Given the description of an element on the screen output the (x, y) to click on. 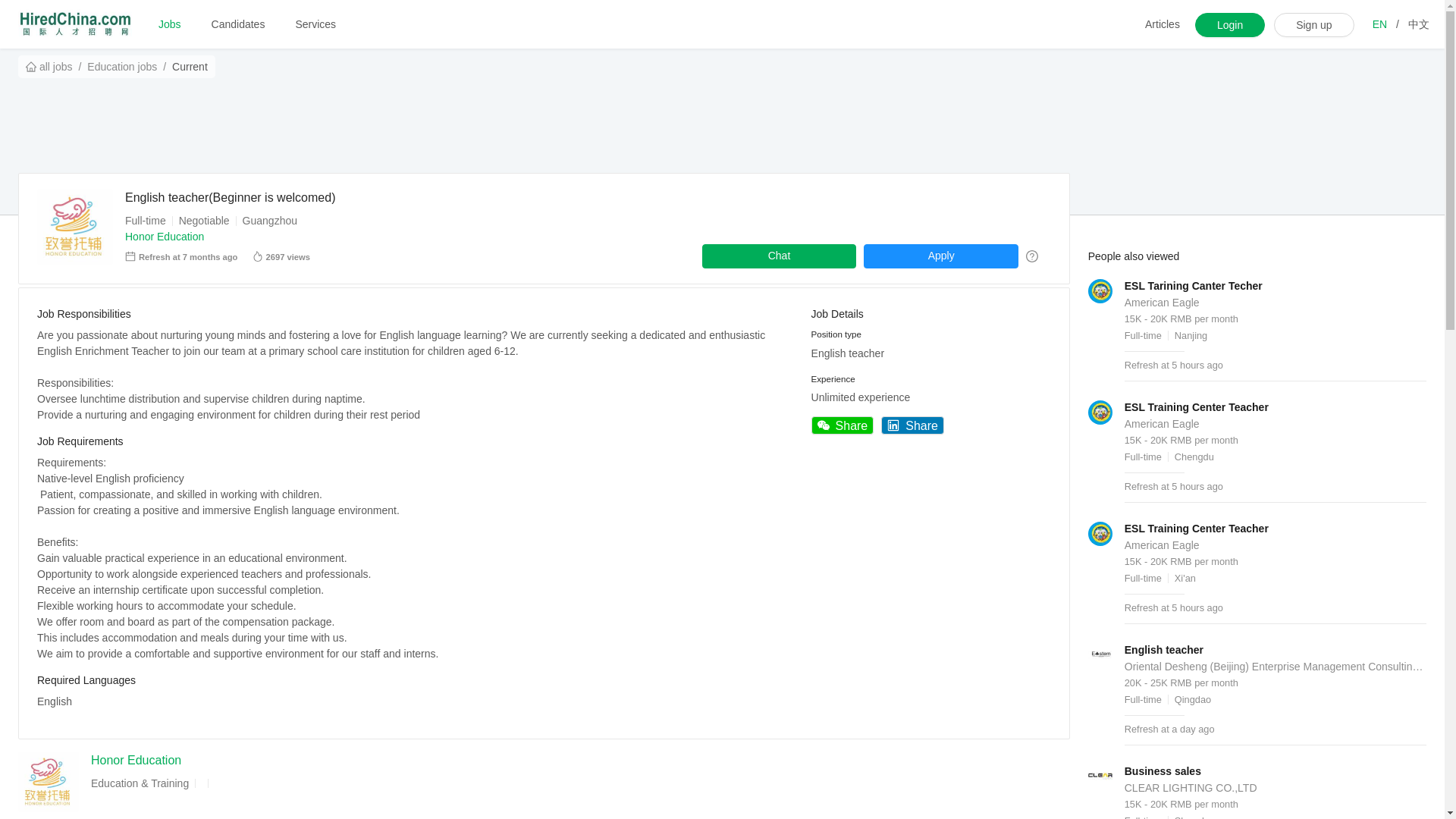
Login (1230, 24)
Candidates (237, 24)
Honor Education (135, 759)
Share (842, 425)
Sign up (1314, 24)
all jobs (48, 66)
Honor Education (164, 236)
Apply (940, 256)
Education jobs (122, 66)
Login (1230, 24)
